Given the description of an element on the screen output the (x, y) to click on. 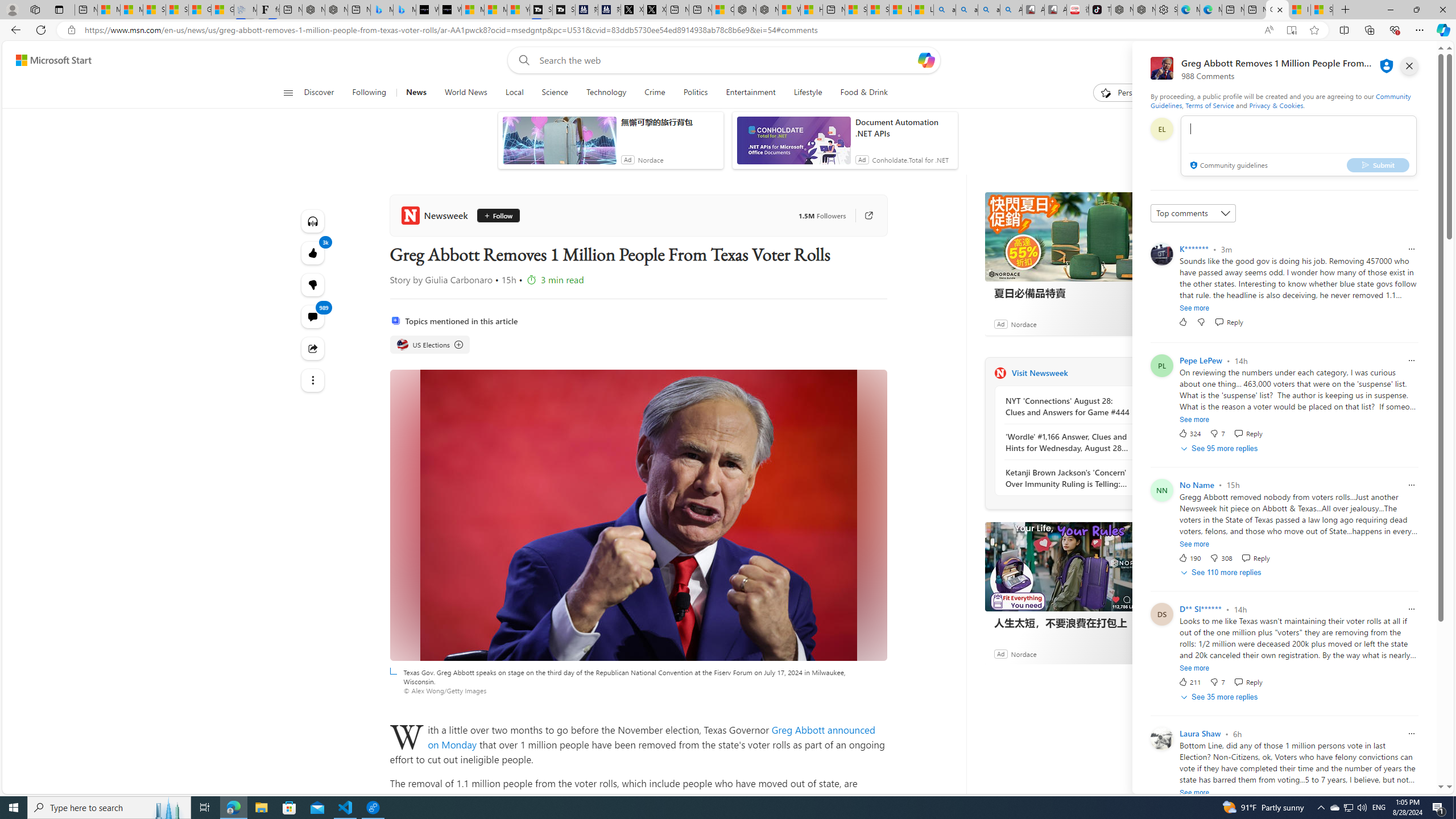
Pepe LePew (1200, 360)
D** Sl****** (1200, 609)
Class: button-glyph (287, 92)
No Name (1196, 484)
I Gained 20 Pounds of Muscle in 30 Days! | Watch (1300, 9)
Politics (694, 92)
Greg Abbott (798, 729)
Senate (697, 797)
close (1409, 65)
